Given the description of an element on the screen output the (x, y) to click on. 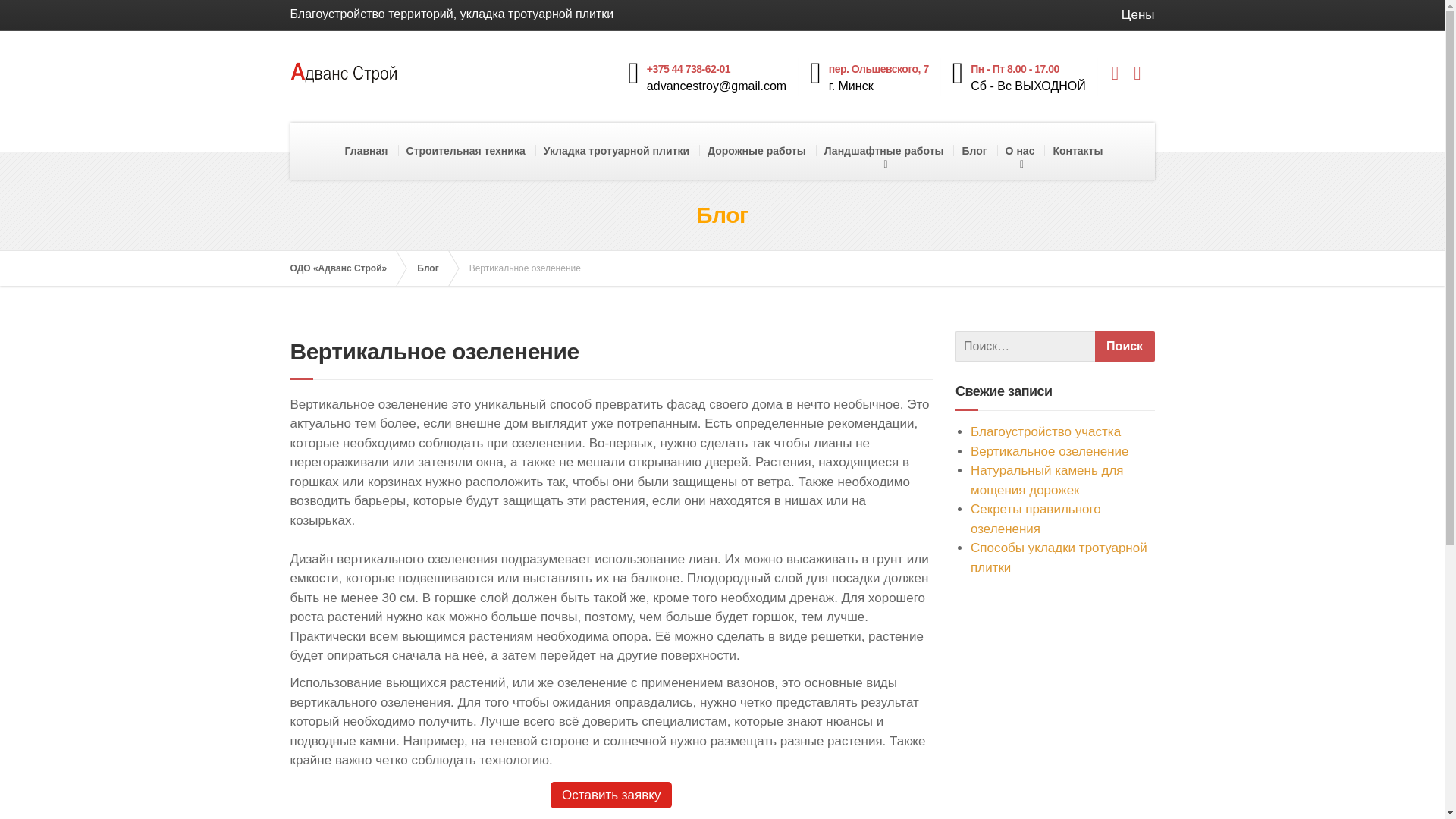
+375 44 738-62-01
advancestroy@gmail.com Element type: text (712, 75)
